Given the description of an element on the screen output the (x, y) to click on. 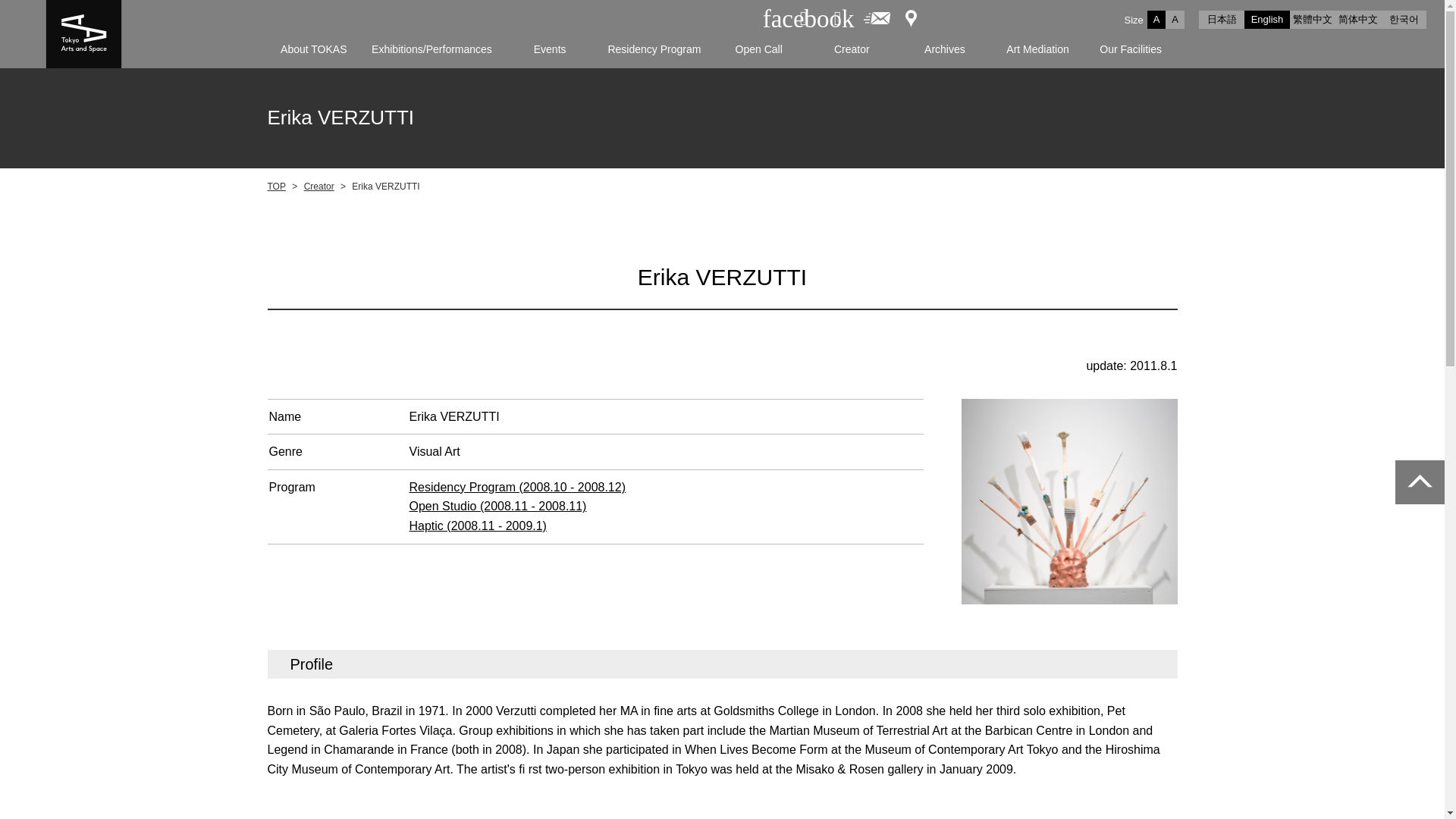
Our Facilities (1130, 48)
Events (549, 48)
facebook (775, 8)
About TOKAS (312, 48)
Art Mediation (1037, 48)
English (1267, 19)
Open Call (758, 48)
Residency Program (653, 48)
Archives (944, 48)
Creator (851, 48)
